Given the description of an element on the screen output the (x, y) to click on. 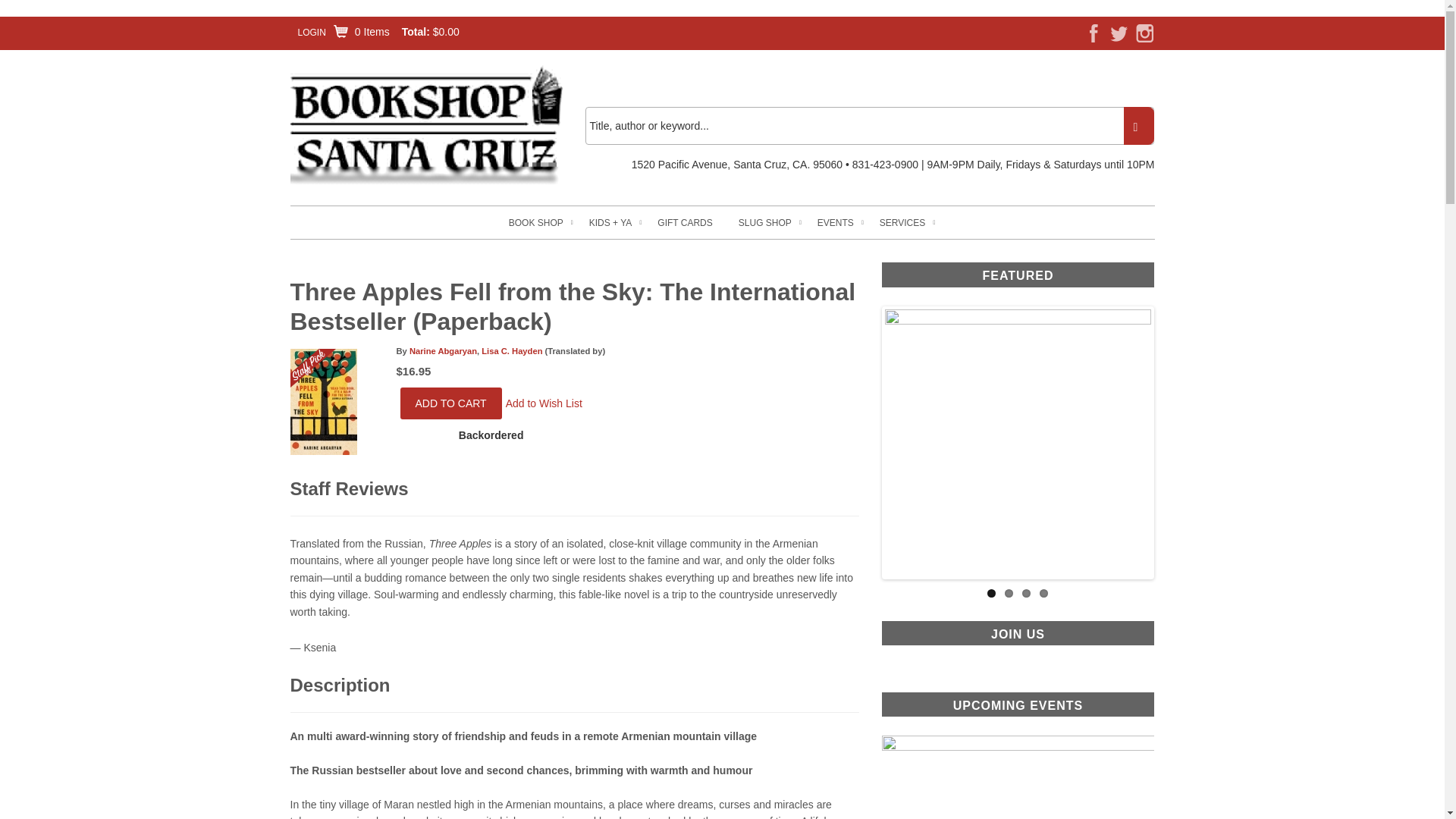
LOGIN (311, 32)
Title, author or keyword... (869, 125)
Home (425, 124)
Add to Cart (451, 403)
BOOK SHOP (535, 222)
